Given the description of an element on the screen output the (x, y) to click on. 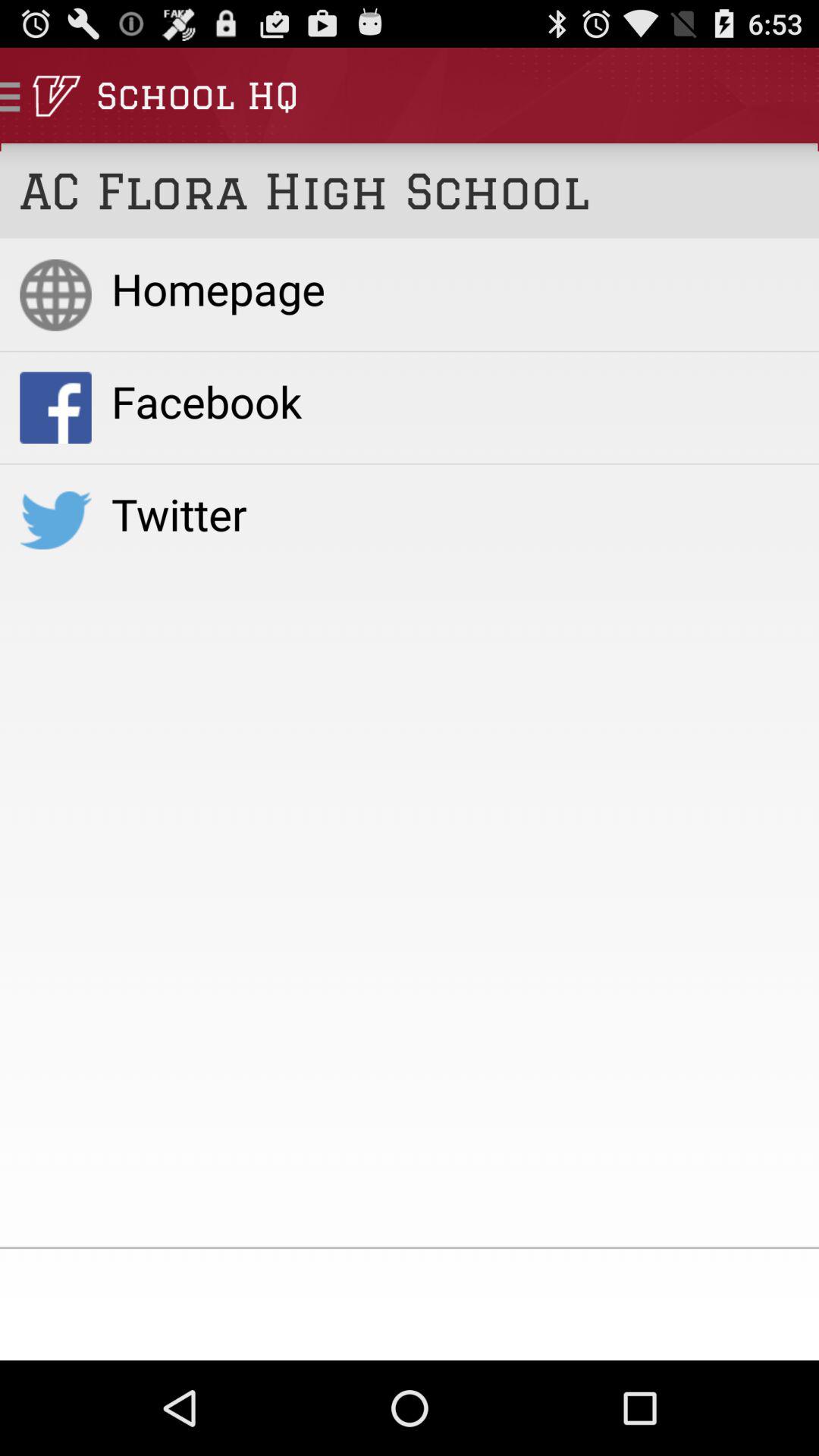
swipe to facebook (455, 400)
